Given the description of an element on the screen output the (x, y) to click on. 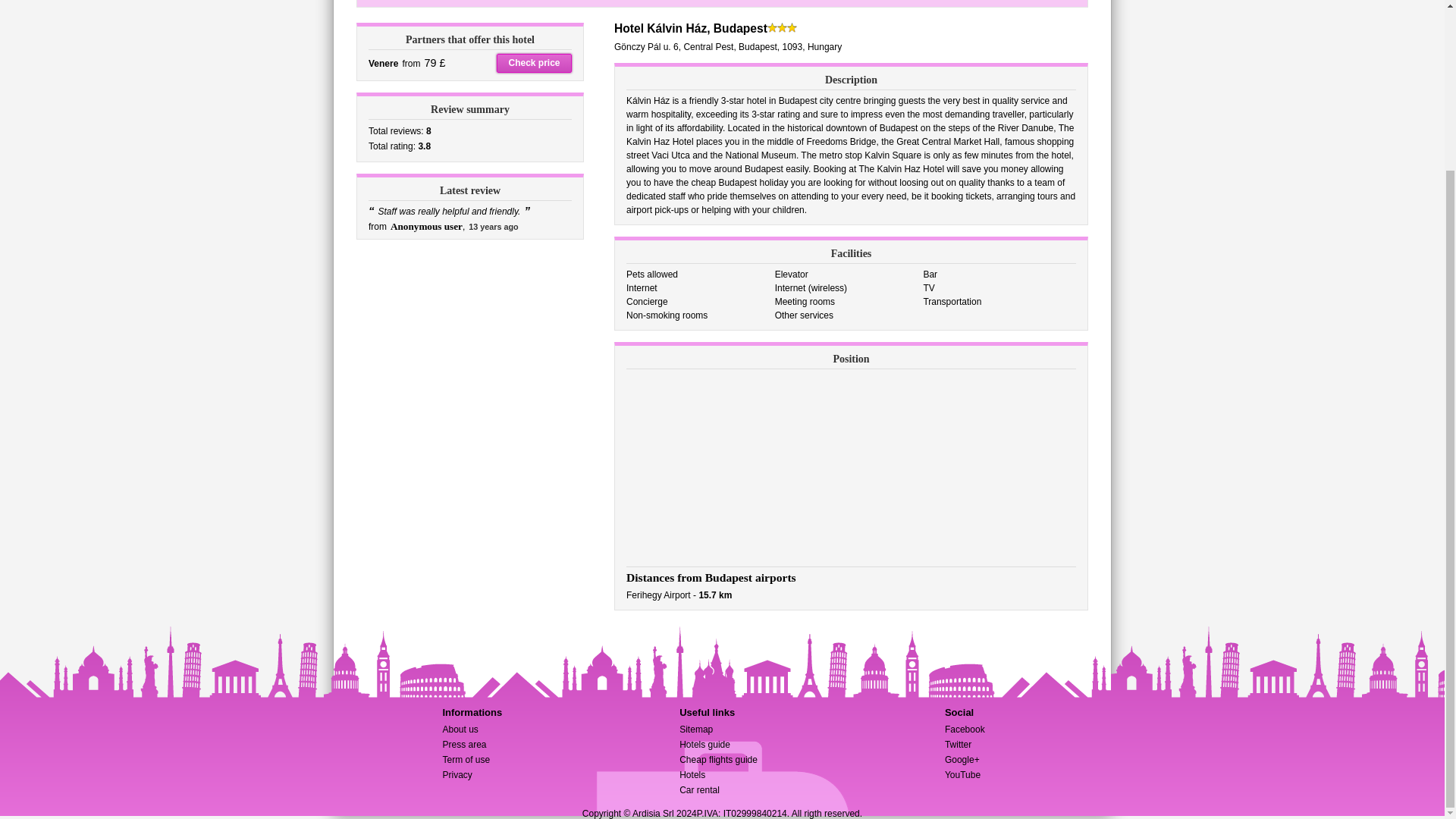
Press area (464, 744)
Term of use (465, 759)
Cheap flights guide (718, 759)
About us (459, 728)
Car rental (699, 789)
Check price (534, 63)
Sitemap (696, 728)
Twitter (957, 744)
Facebook (964, 728)
Cheap flights guide (718, 759)
Site map (696, 728)
Hotels (691, 774)
Press area (464, 744)
Term of use (465, 759)
About us (459, 728)
